Given the description of an element on the screen output the (x, y) to click on. 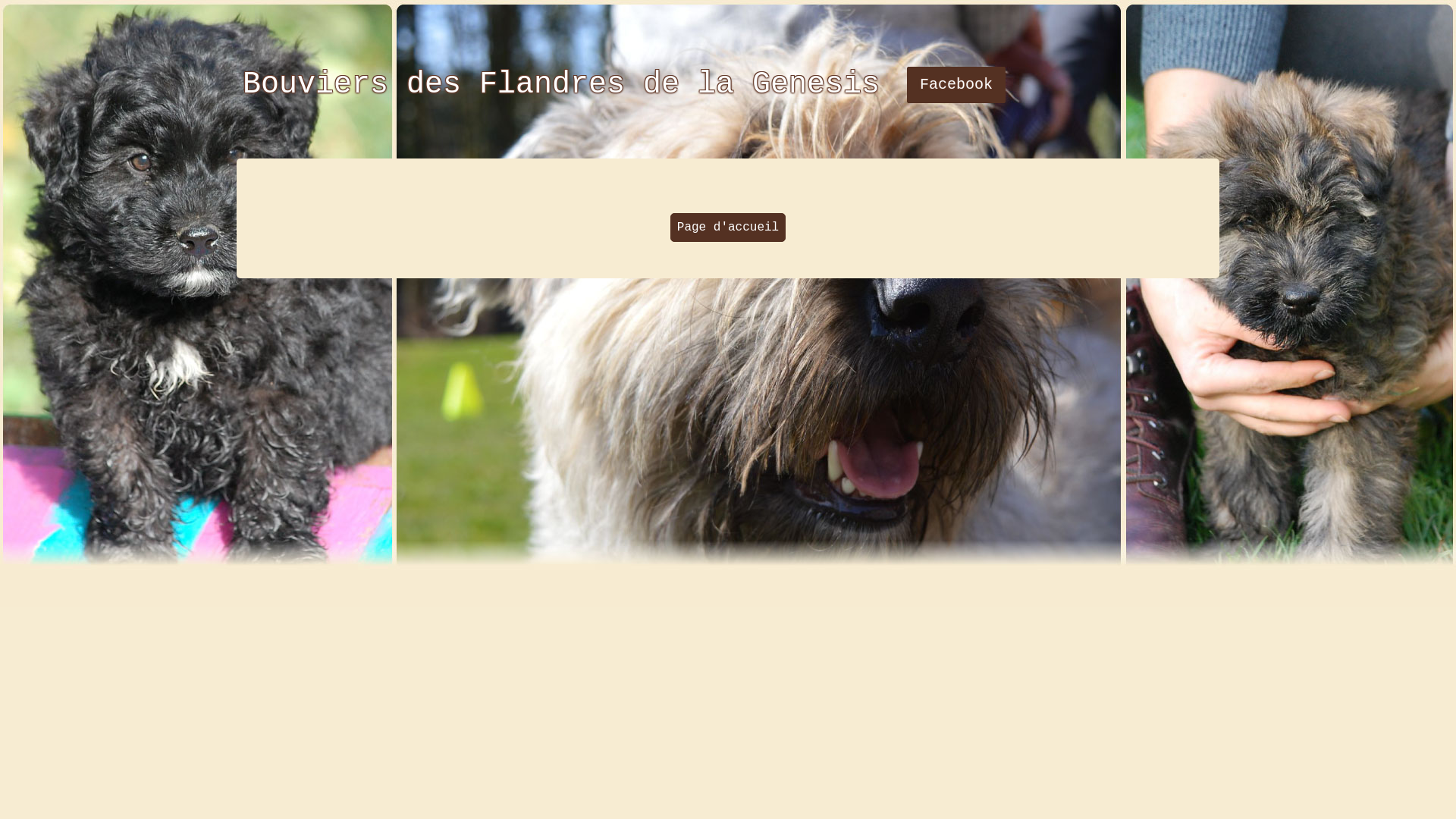
Facebook Element type: text (955, 84)
Page d'accueil Element type: text (727, 227)
